Given the description of an element on the screen output the (x, y) to click on. 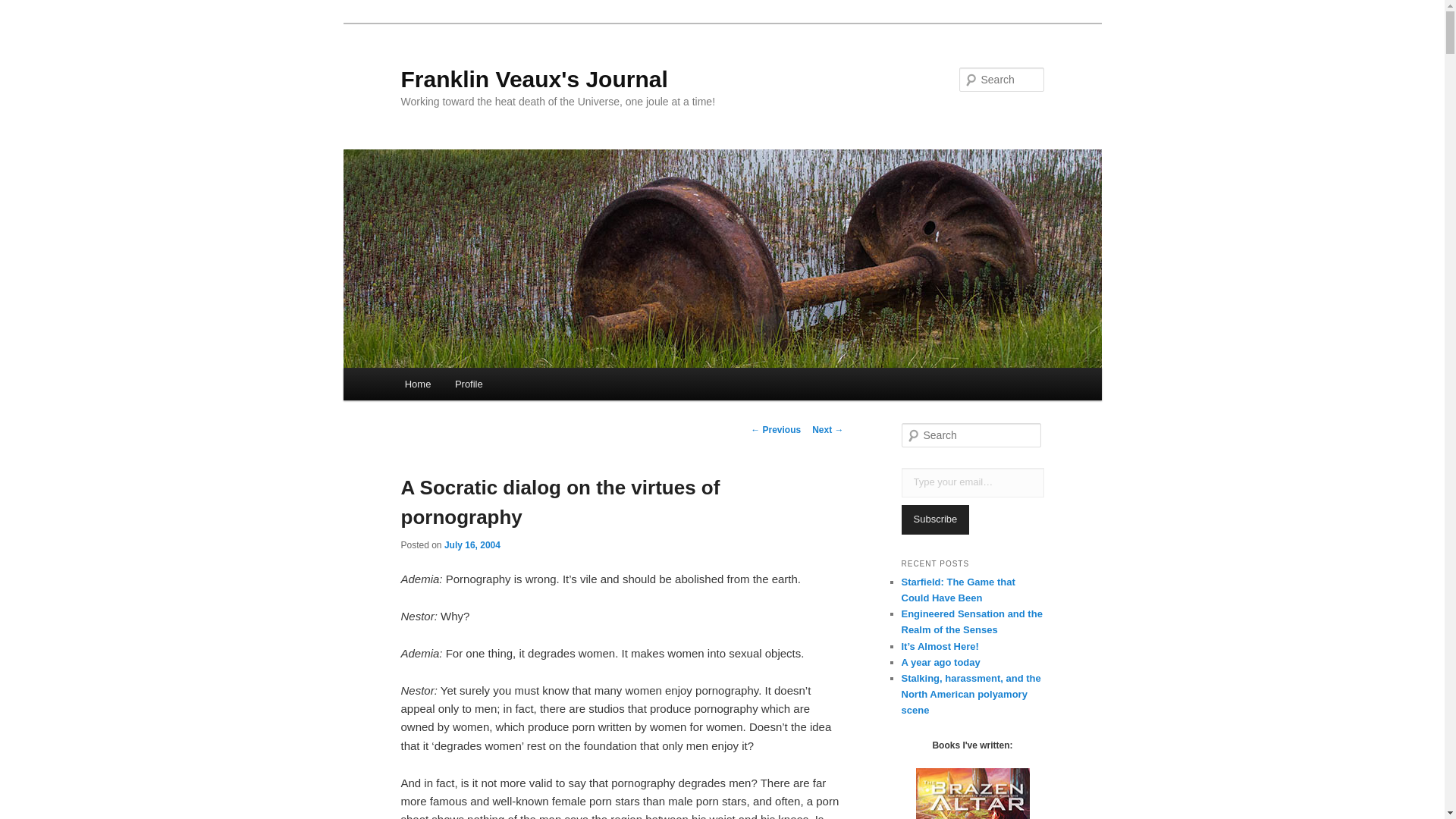
Search (24, 8)
Franklin Veaux's Journal (533, 78)
July 16, 2004 (472, 544)
Home (417, 383)
Please fill in this field. (972, 482)
Profile (468, 383)
8:53 pm (472, 544)
